Given the description of an element on the screen output the (x, y) to click on. 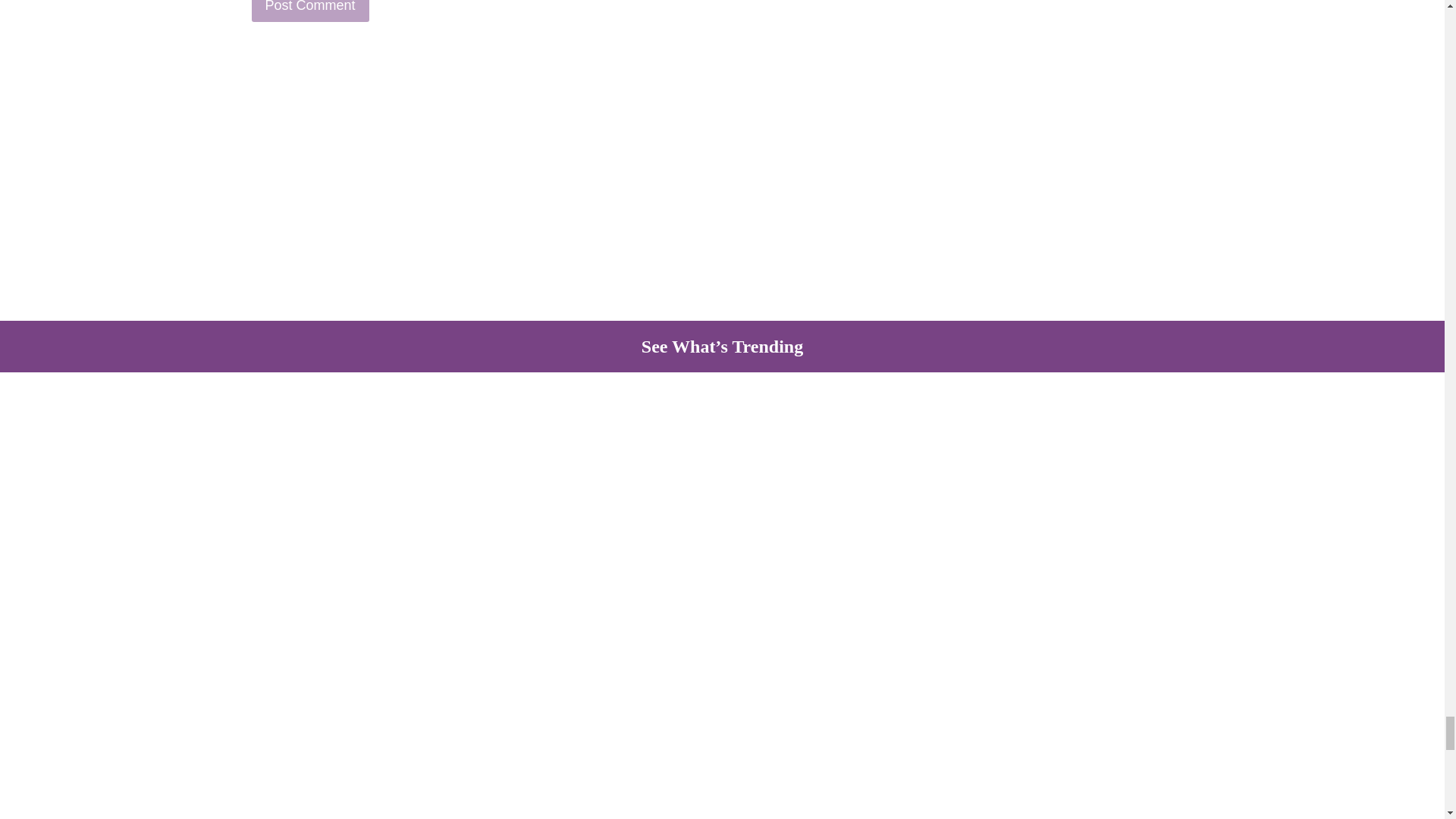
Post Comment (310, 11)
